Given the description of an element on the screen output the (x, y) to click on. 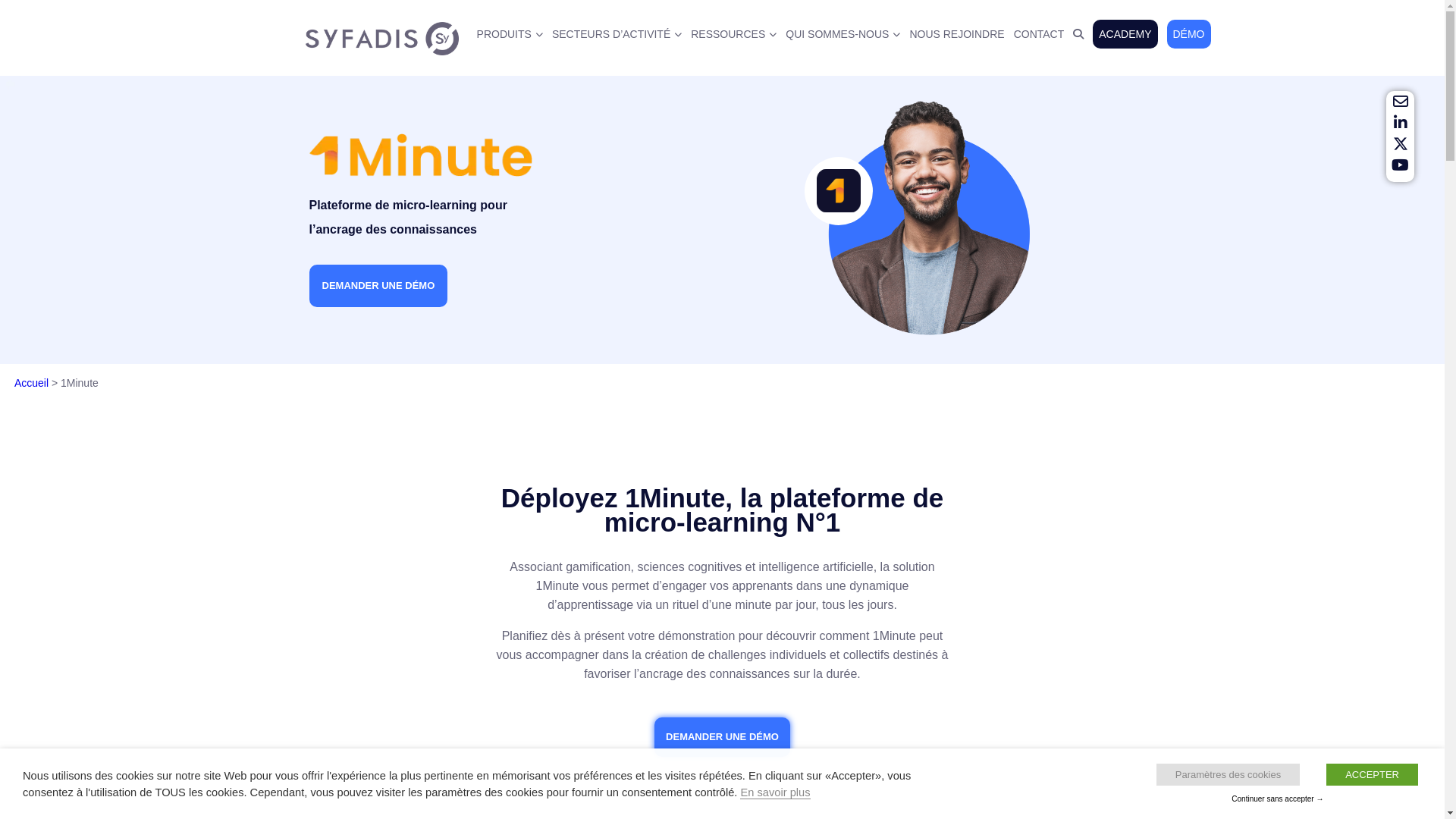
NOUS REJOINDRE Element type: text (956, 34)
QUI SOMMES-NOUS Element type: text (842, 33)
PRODUITS Element type: text (509, 33)
ACCEPTER Element type: text (1372, 774)
CONTACT Element type: text (1038, 34)
En savoir plus Element type: text (774, 791)
Accueil Element type: text (31, 382)
ACADEMY Element type: text (1124, 33)
RESSOURCES Element type: text (733, 33)
